Given the description of an element on the screen output the (x, y) to click on. 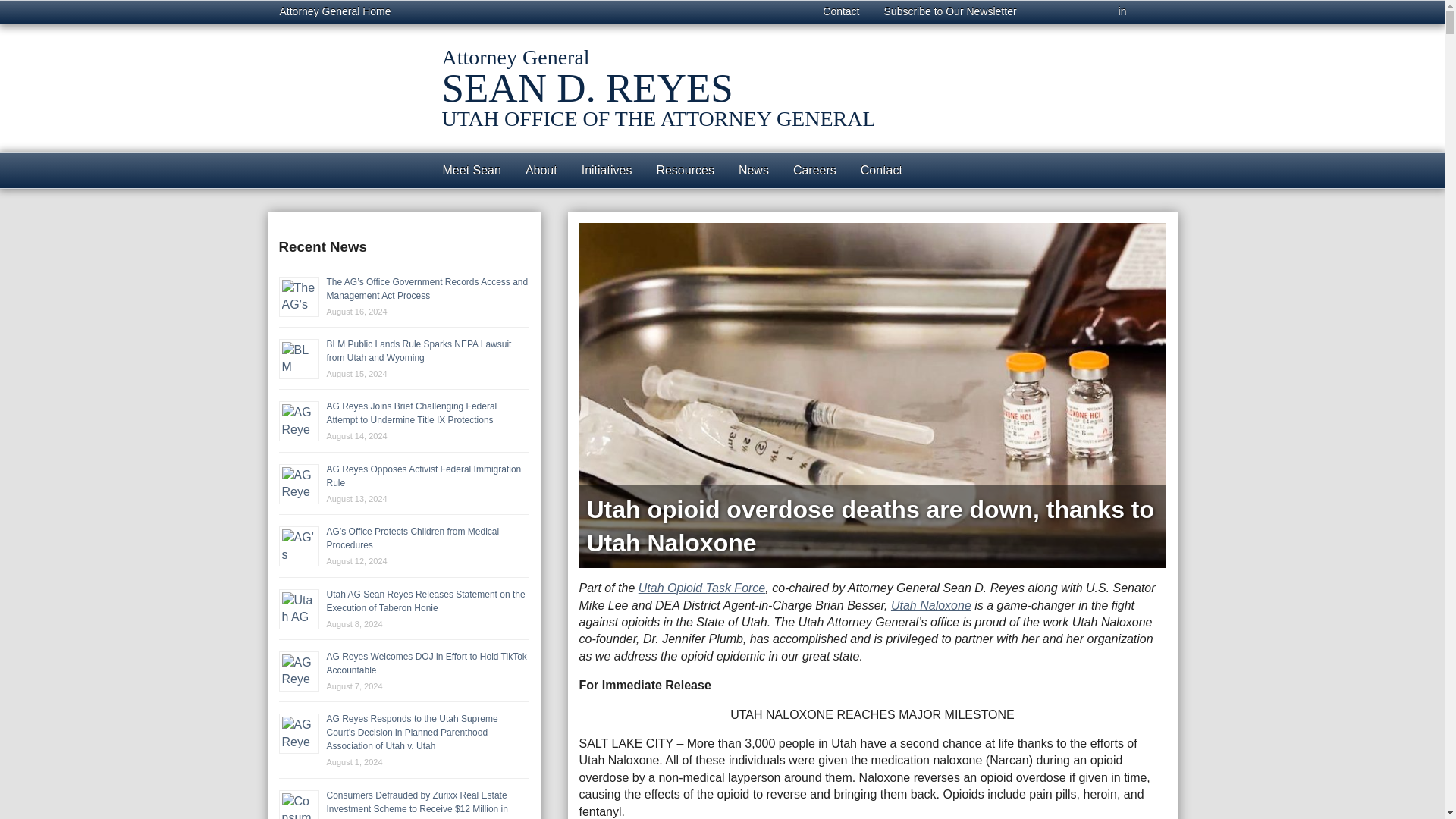
YouTube (1157, 11)
About (541, 170)
Initiatives (607, 170)
in (1122, 11)
Utah Office of the Attorney General (342, 103)
Contact (840, 11)
Twitter (1086, 11)
Subscribe to Our Newsletter (950, 11)
Resources (684, 170)
Facebook (1048, 11)
